Given the description of an element on the screen output the (x, y) to click on. 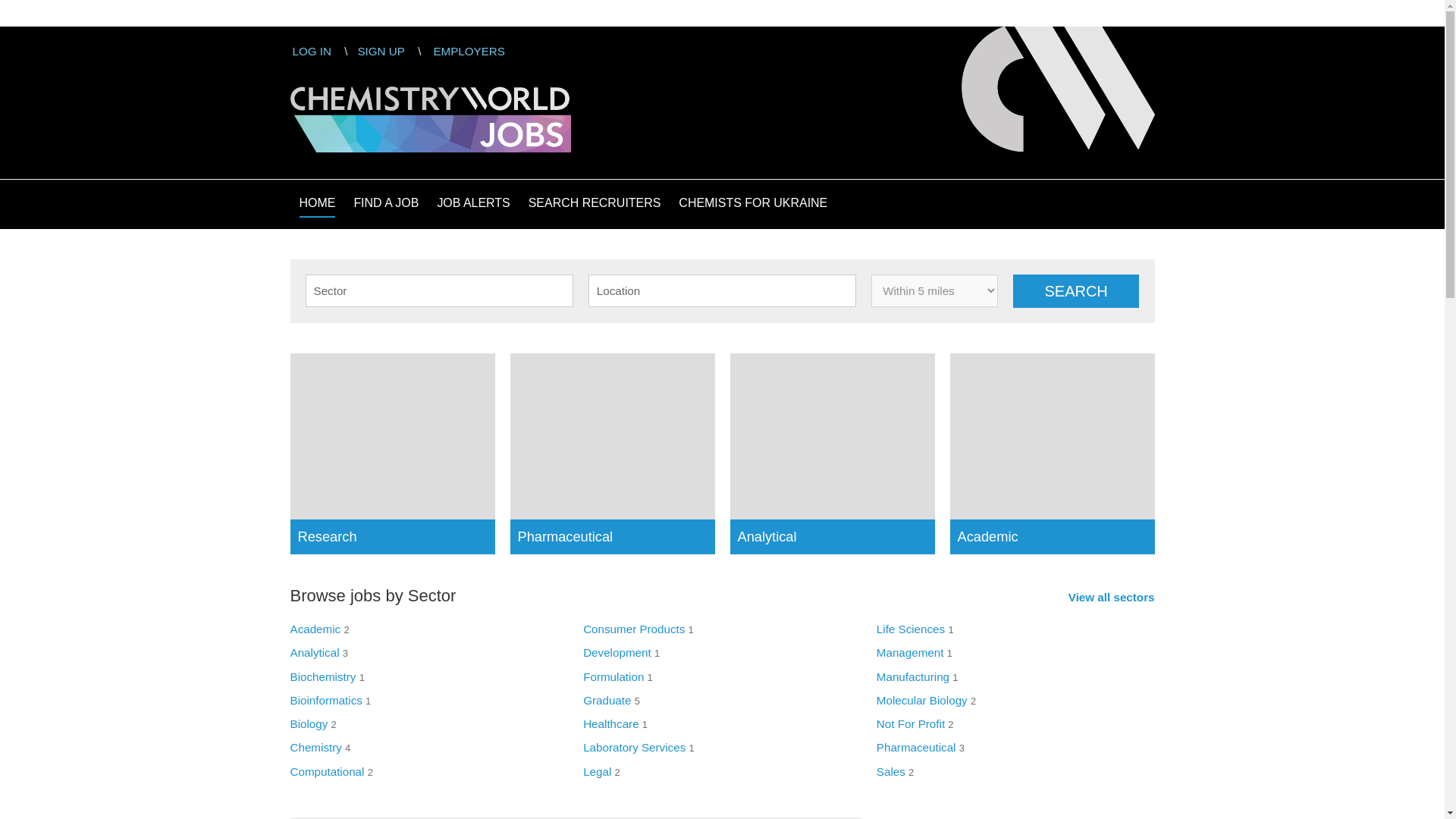
Bioinformatics (325, 699)
Research (392, 453)
Healthcare (611, 723)
Graduate (606, 699)
Search (1076, 290)
Chemistry World Jobs (429, 114)
FIND A JOB (386, 203)
Pharmaceutical (916, 747)
Computational (326, 771)
Development (616, 652)
Academic (314, 628)
Laboratory Services (634, 747)
Visit Chemistry World (1057, 88)
Molecular Biology (922, 699)
Sales (890, 771)
